Given the description of an element on the screen output the (x, y) to click on. 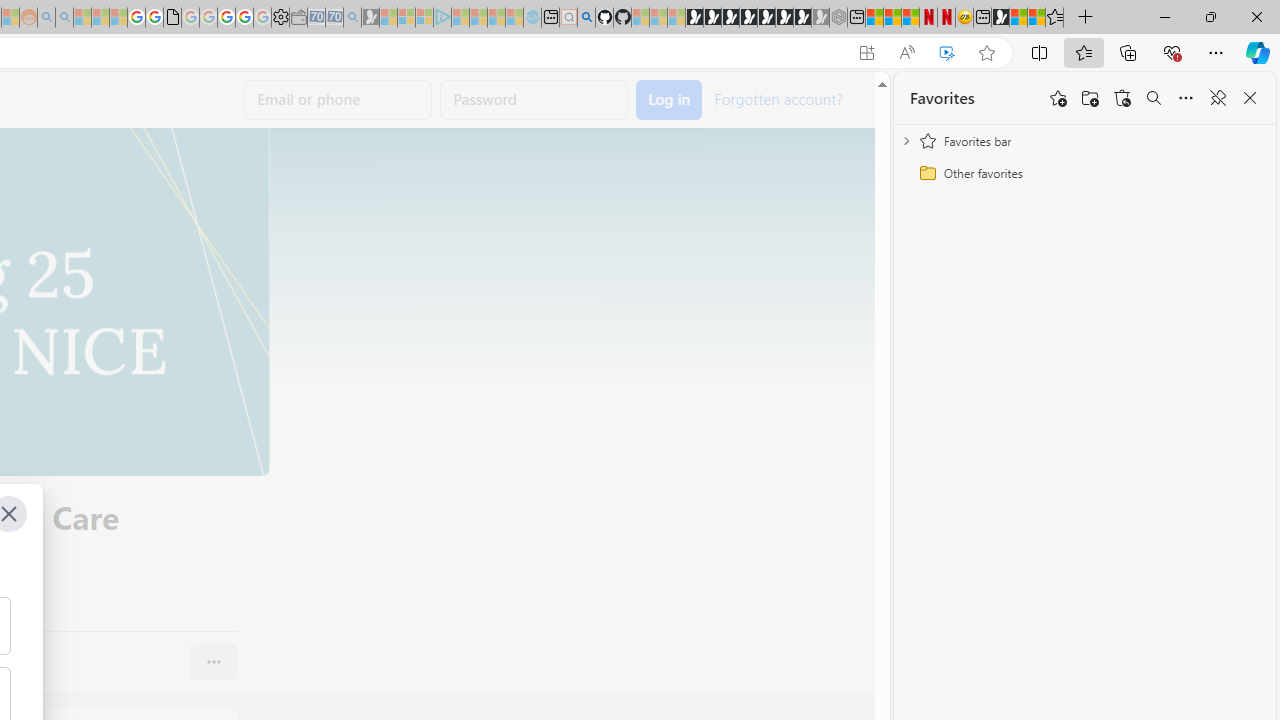
Restore deleted favorites (1122, 98)
